Given the description of an element on the screen output the (x, y) to click on. 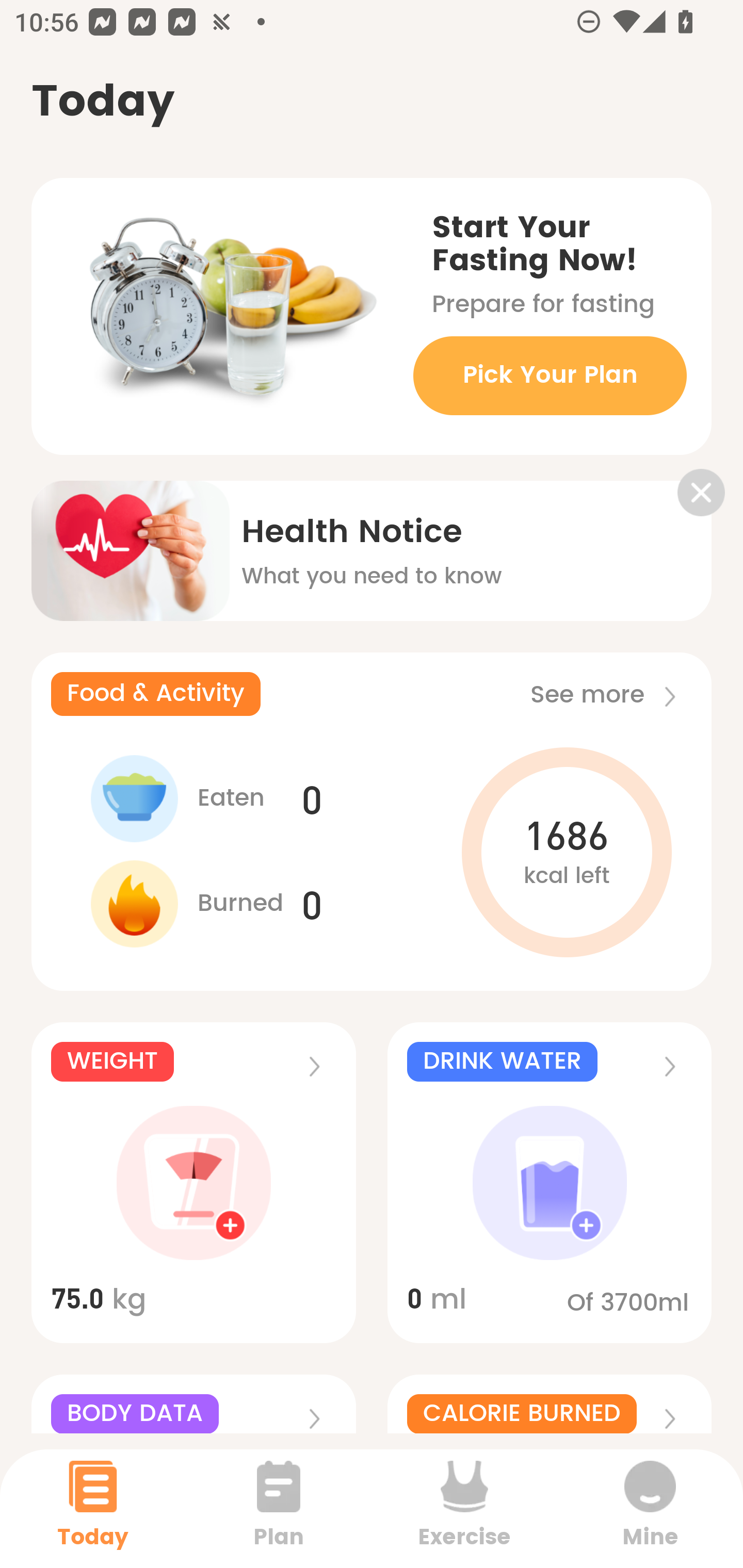
Pick Your Plan (549, 375)
Health Notice What you need to know (371, 537)
WEIGHT 75.0 kg (193, 1182)
DRINK WATER 0 ml Of 3700ml (549, 1182)
BODY DATA (193, 1404)
CALORIE BURNED (549, 1404)
Plan (278, 1508)
Exercise (464, 1508)
Mine (650, 1508)
